Given the description of an element on the screen output the (x, y) to click on. 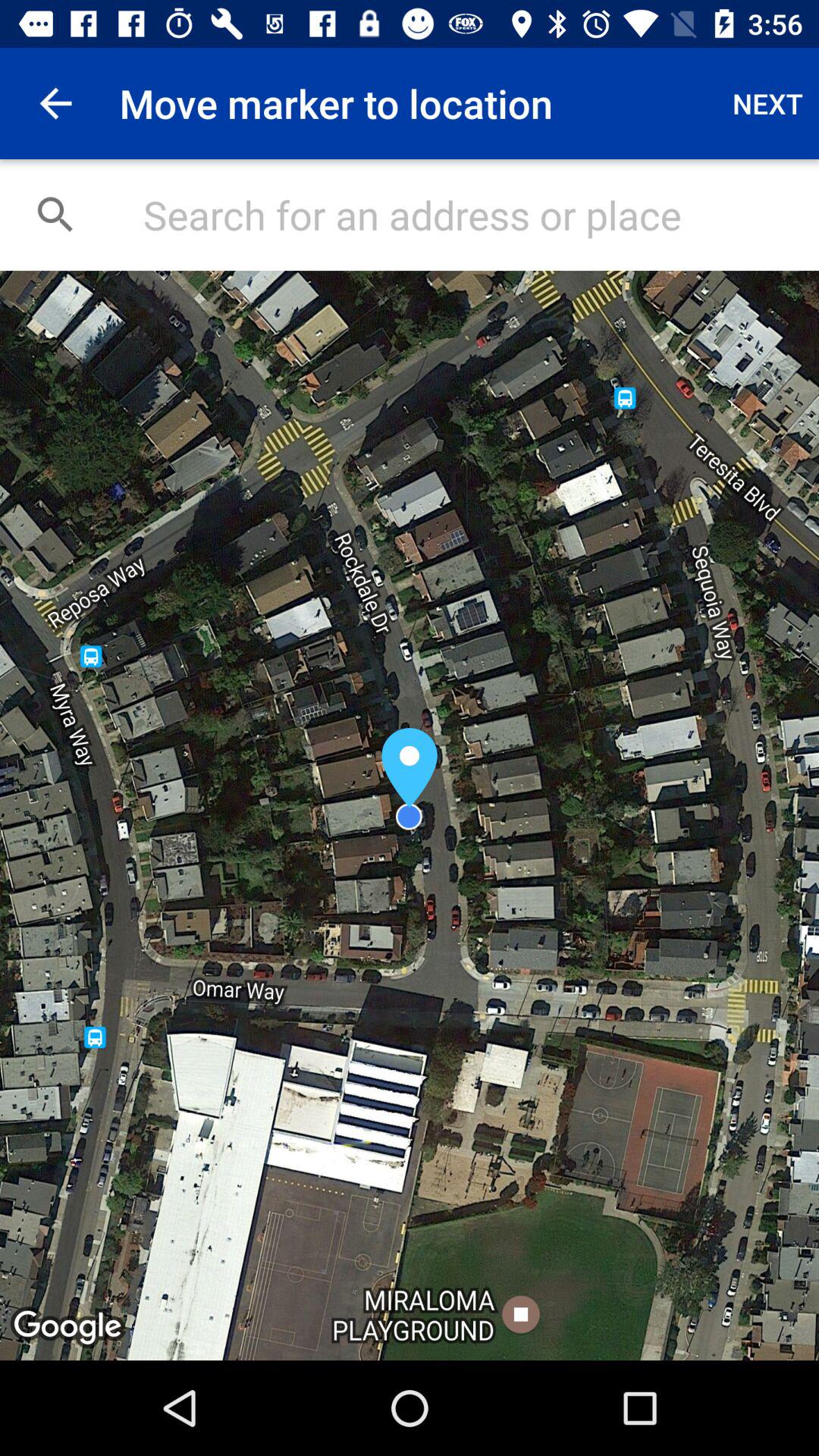
flip until next (767, 103)
